Given the description of an element on the screen output the (x, y) to click on. 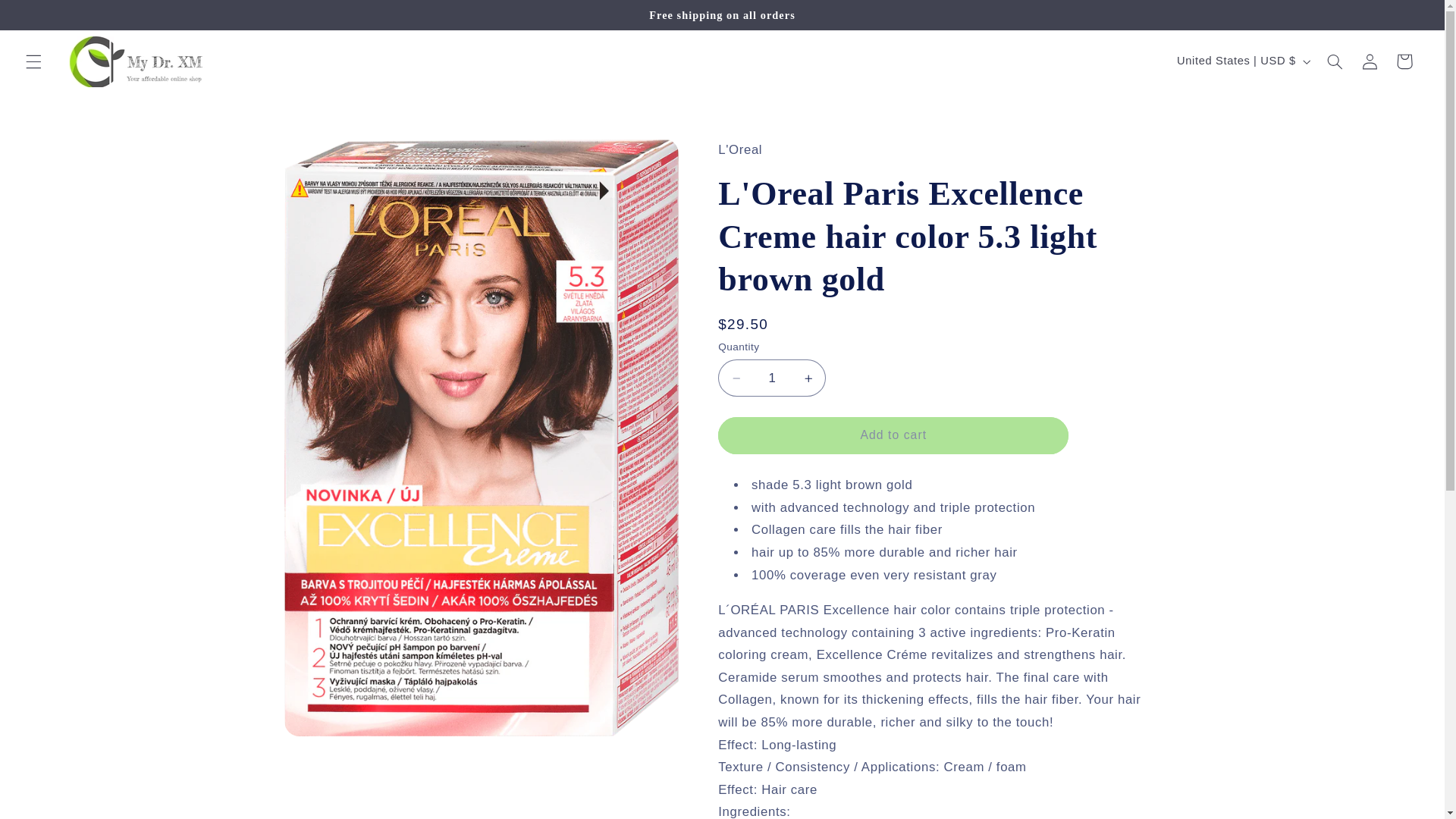
Skip to content (48, 18)
Log in (1369, 61)
1 (771, 377)
